Given the description of an element on the screen output the (x, y) to click on. 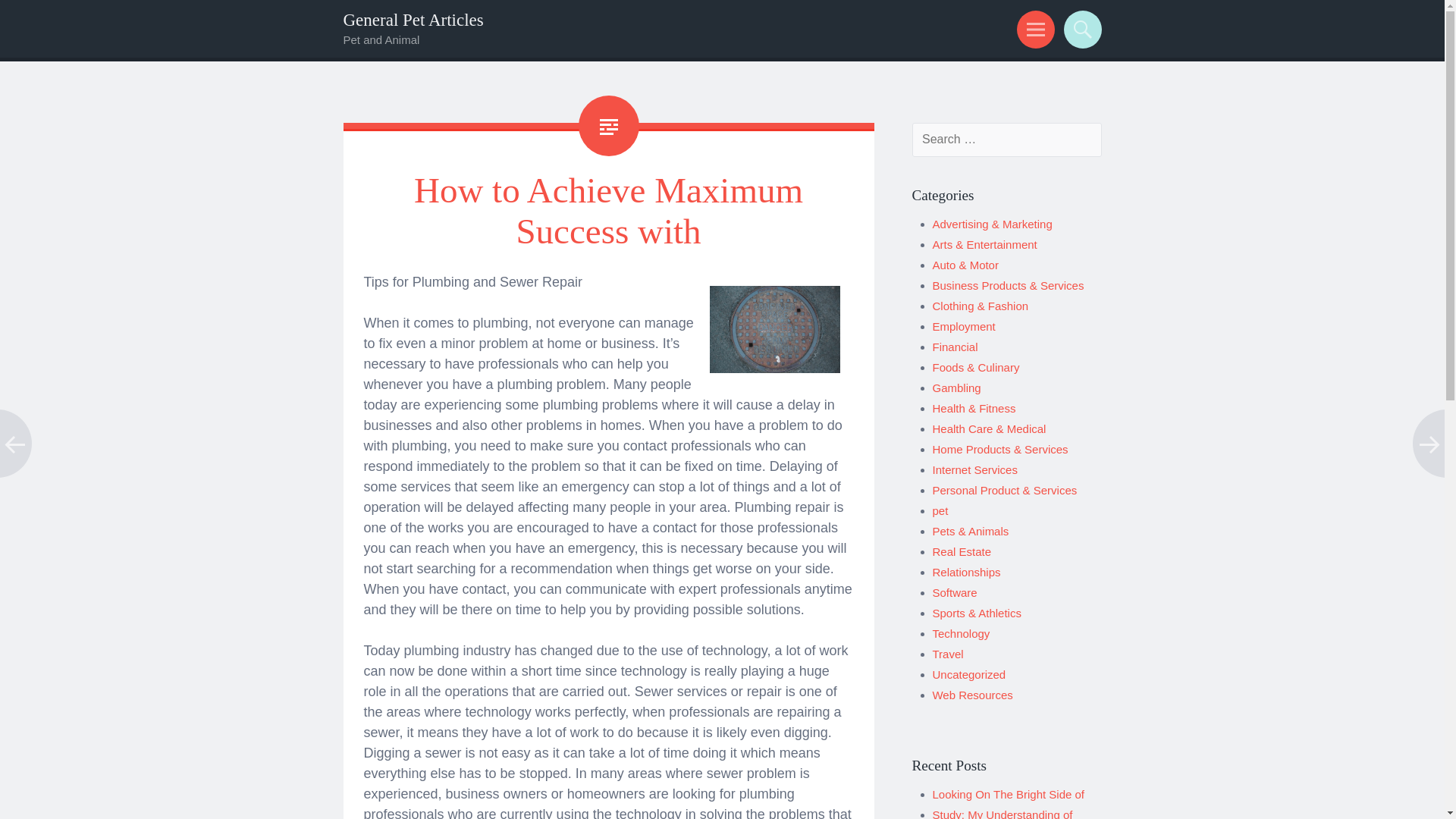
Employment (964, 326)
Technology (961, 633)
Search (1080, 29)
pet (941, 510)
Software (954, 592)
Relationships (967, 571)
Financial (955, 346)
General Pet Articles (412, 19)
Looking On The Bright Side of (1008, 793)
Real Estate (962, 551)
